Given the description of an element on the screen output the (x, y) to click on. 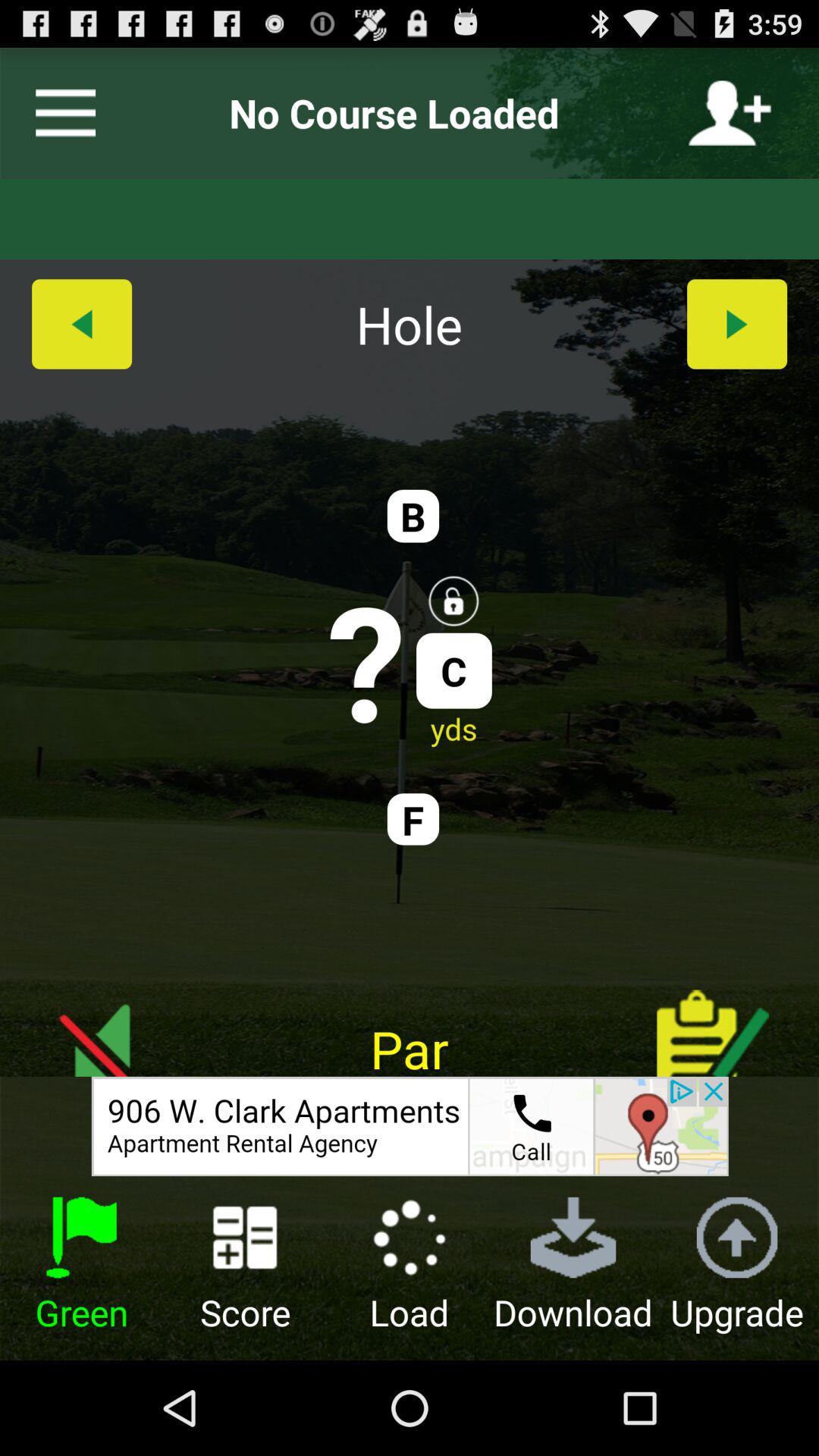
menu button (59, 112)
